Given the description of an element on the screen output the (x, y) to click on. 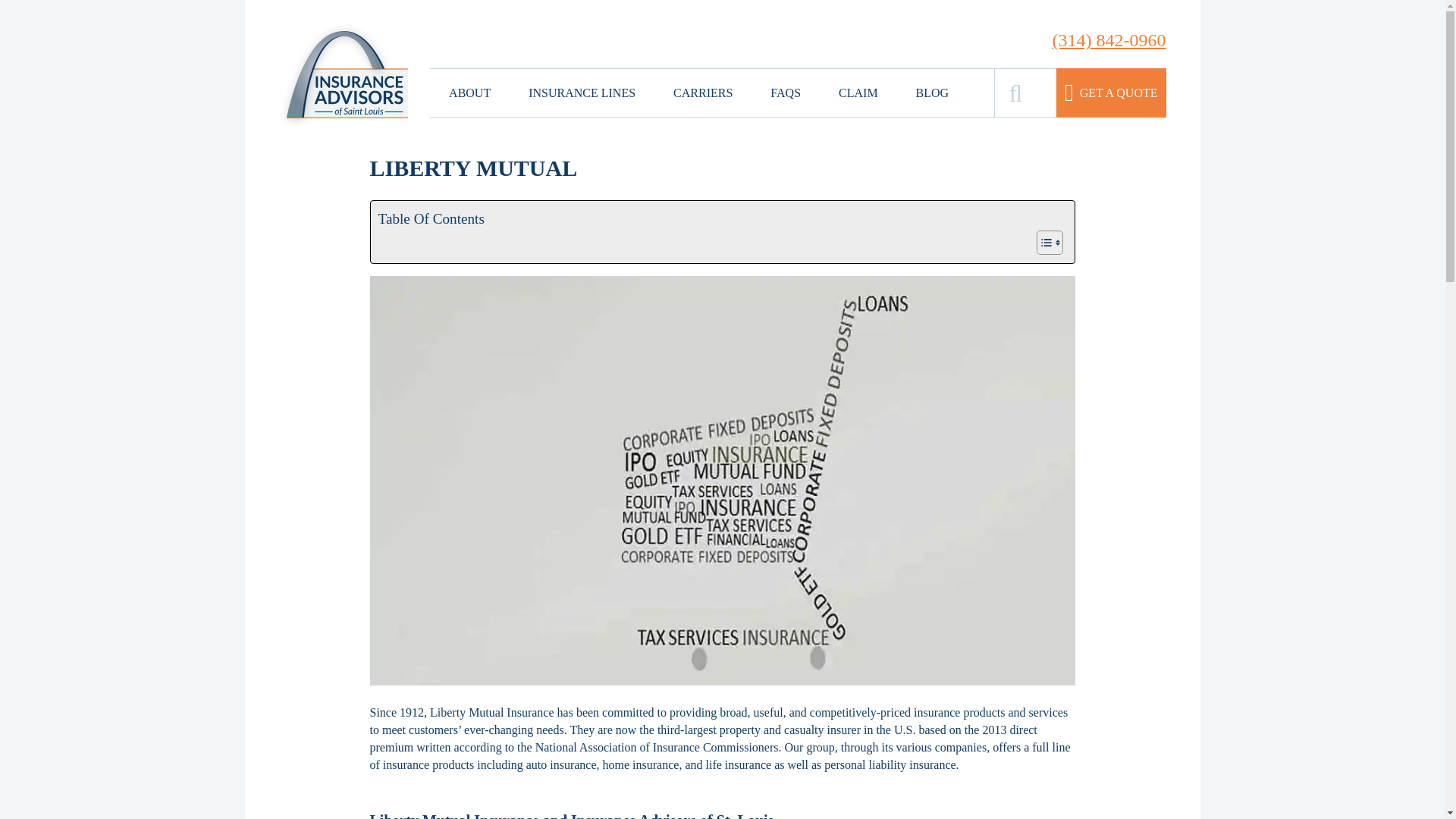
GET A QUOTE (1111, 92)
CARRIERS (702, 92)
FAQS (785, 92)
ABOUT (469, 92)
INSURANCE LINES (581, 92)
CLAIM (857, 92)
BLOG (932, 92)
